Given the description of an element on the screen output the (x, y) to click on. 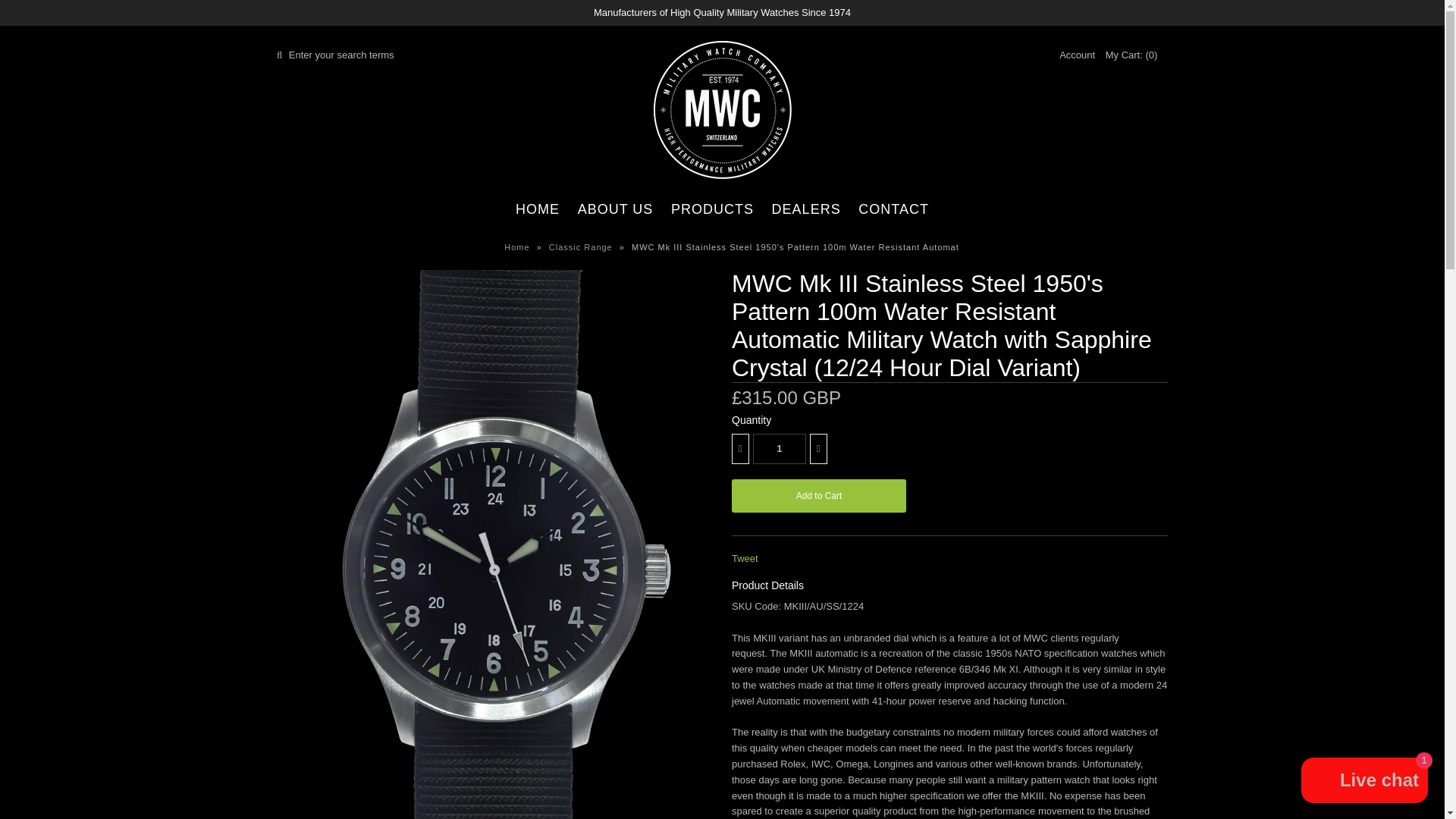
HOME (537, 209)
ABOUT US (615, 209)
Classic Range (581, 246)
Tweet (745, 558)
DEALERS (806, 209)
Add to Cart (818, 495)
Account (1076, 54)
CONTACT (893, 209)
1 (779, 449)
Add to Cart (818, 495)
Home (517, 246)
Home (517, 246)
PRODUCTS (712, 209)
